Given the description of an element on the screen output the (x, y) to click on. 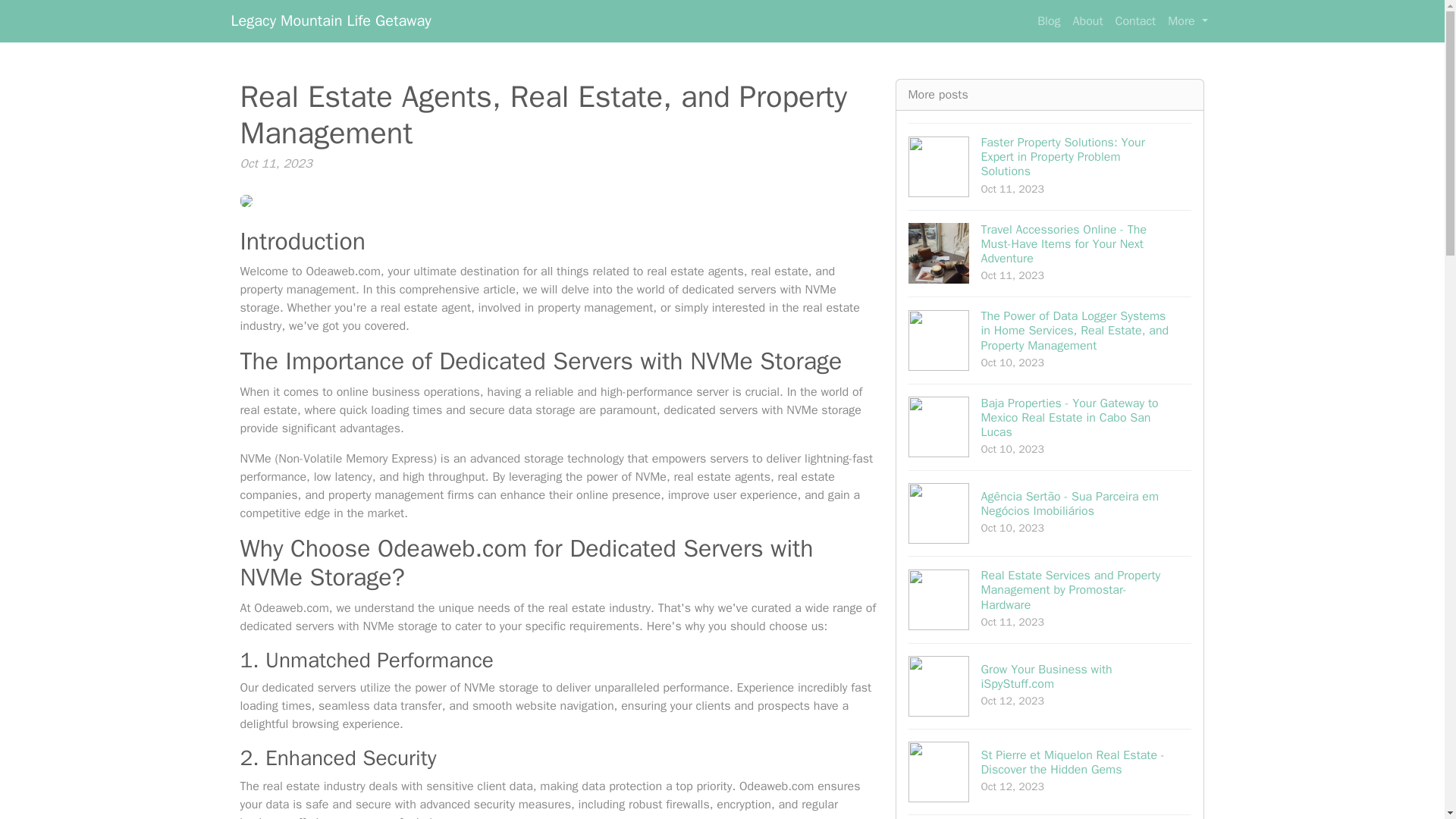
Blog (1047, 20)
More (1186, 20)
Contact (1050, 685)
About (1134, 20)
Legacy Mountain Life Getaway (1088, 20)
